Given the description of an element on the screen output the (x, y) to click on. 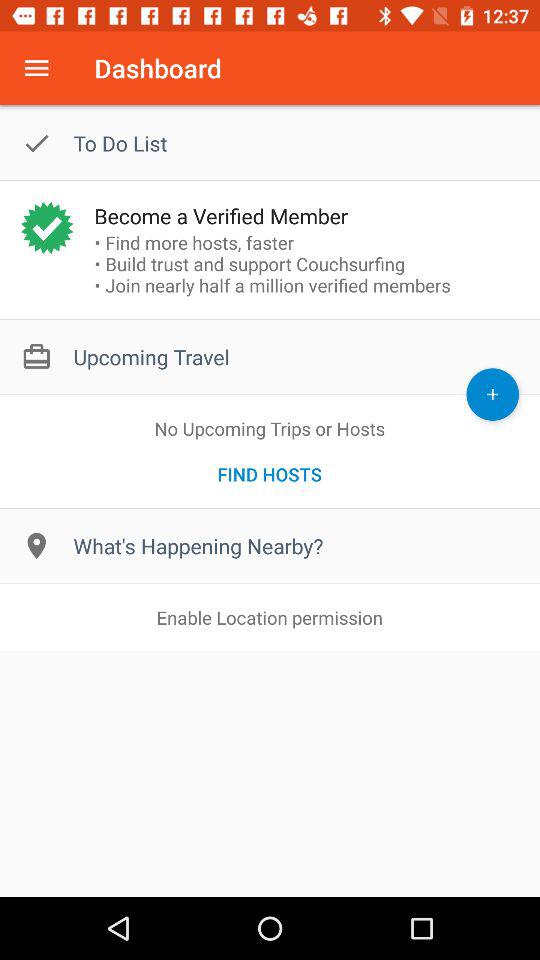
choose icon to the right of no upcoming trips icon (492, 394)
